Given the description of an element on the screen output the (x, y) to click on. 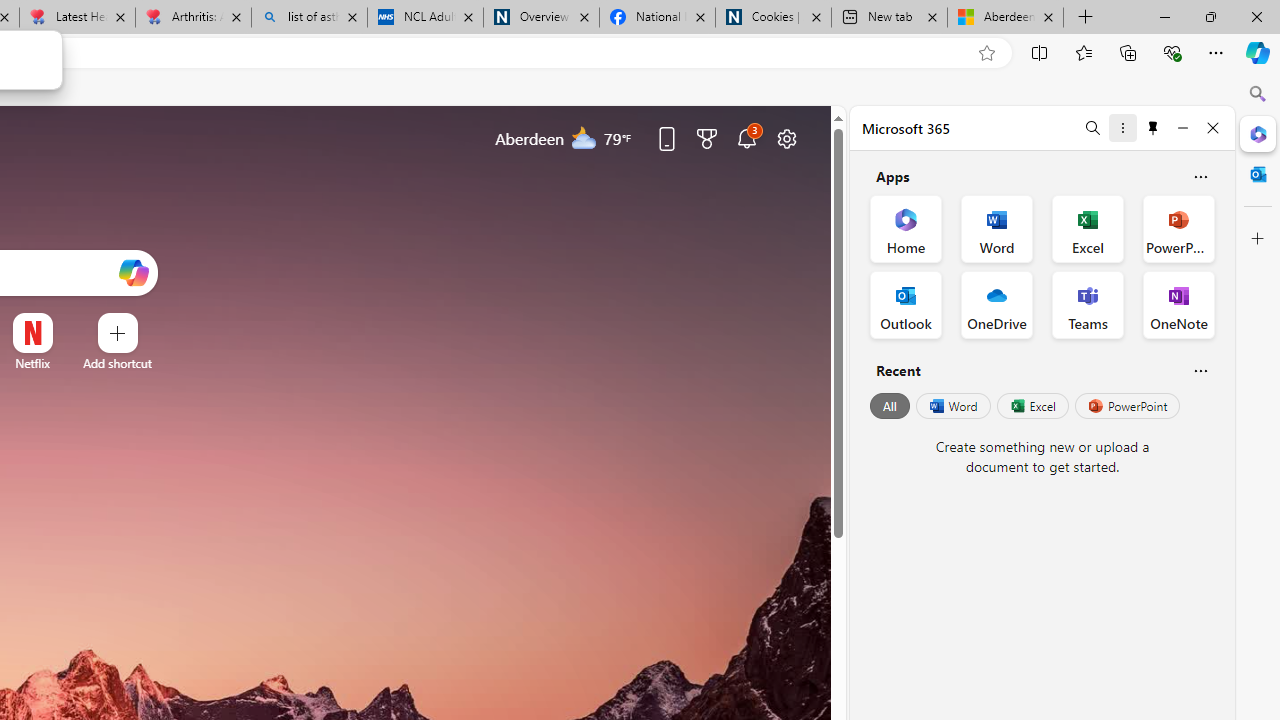
Mostly cloudy (584, 137)
Netflix (32, 363)
Word Office App (996, 228)
Arthritis: Ask Health Professionals (192, 17)
PowerPoint Office App (1178, 228)
Add a site (117, 363)
